Given the description of an element on the screen output the (x, y) to click on. 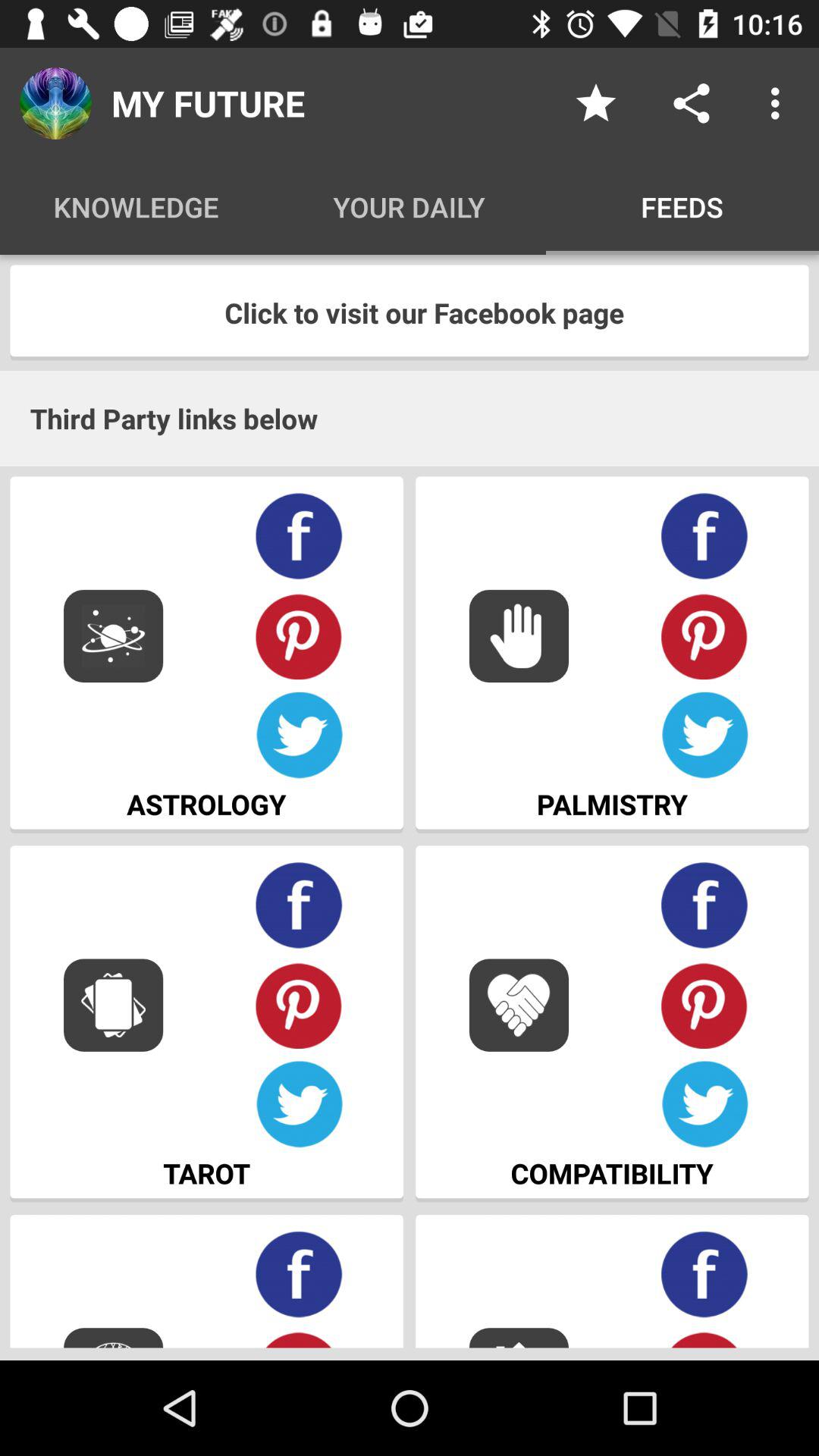
twitter (704, 1104)
